Given the description of an element on the screen output the (x, y) to click on. 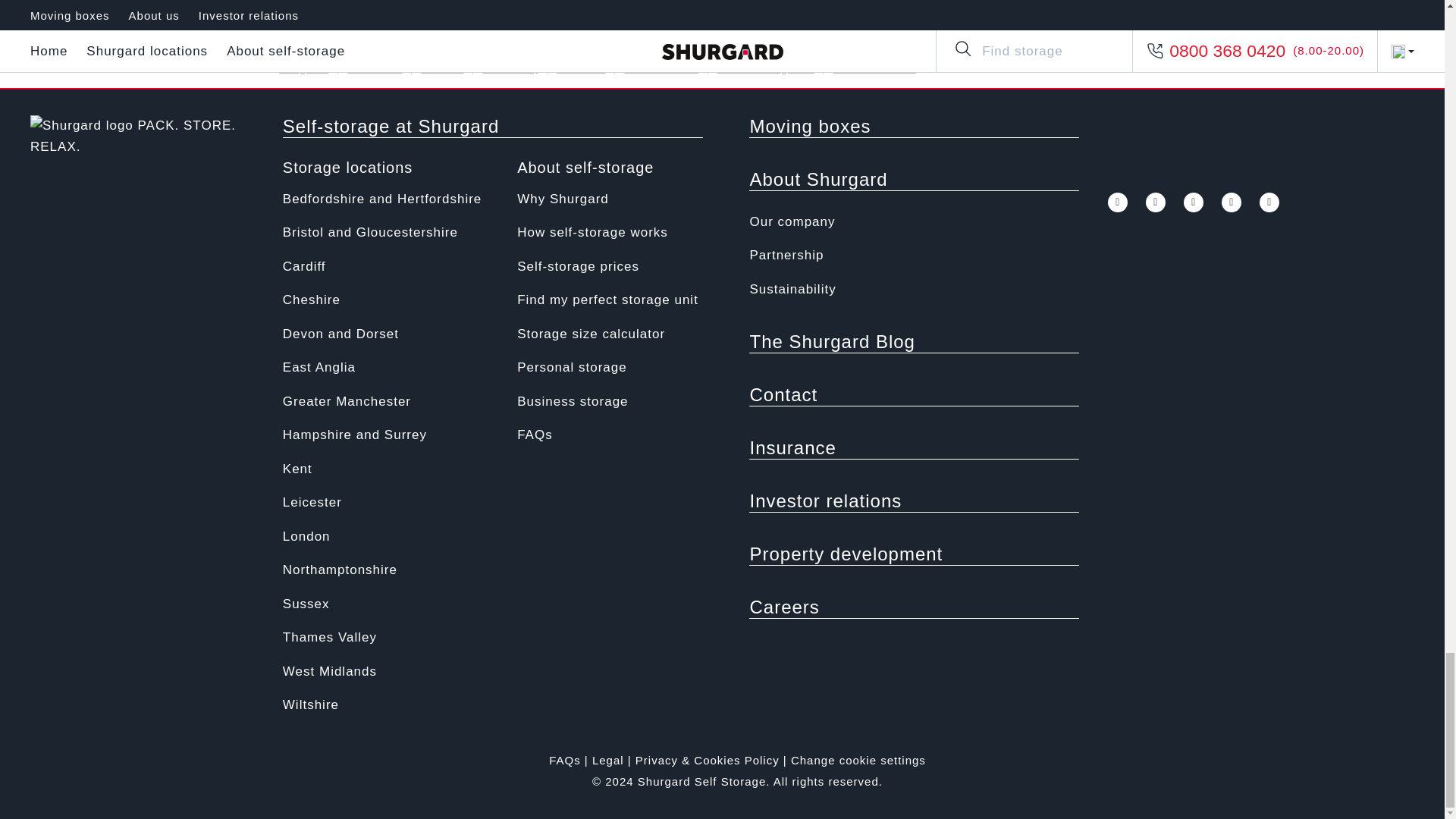
facebook (1002, 68)
pinterest (1231, 202)
pinterest (1116, 68)
linkedin (1269, 202)
youtube (1078, 68)
linkedin (1154, 68)
youtube (1193, 202)
facebook (1117, 202)
twitter (1155, 202)
twitter (1040, 68)
